Given the description of an element on the screen output the (x, y) to click on. 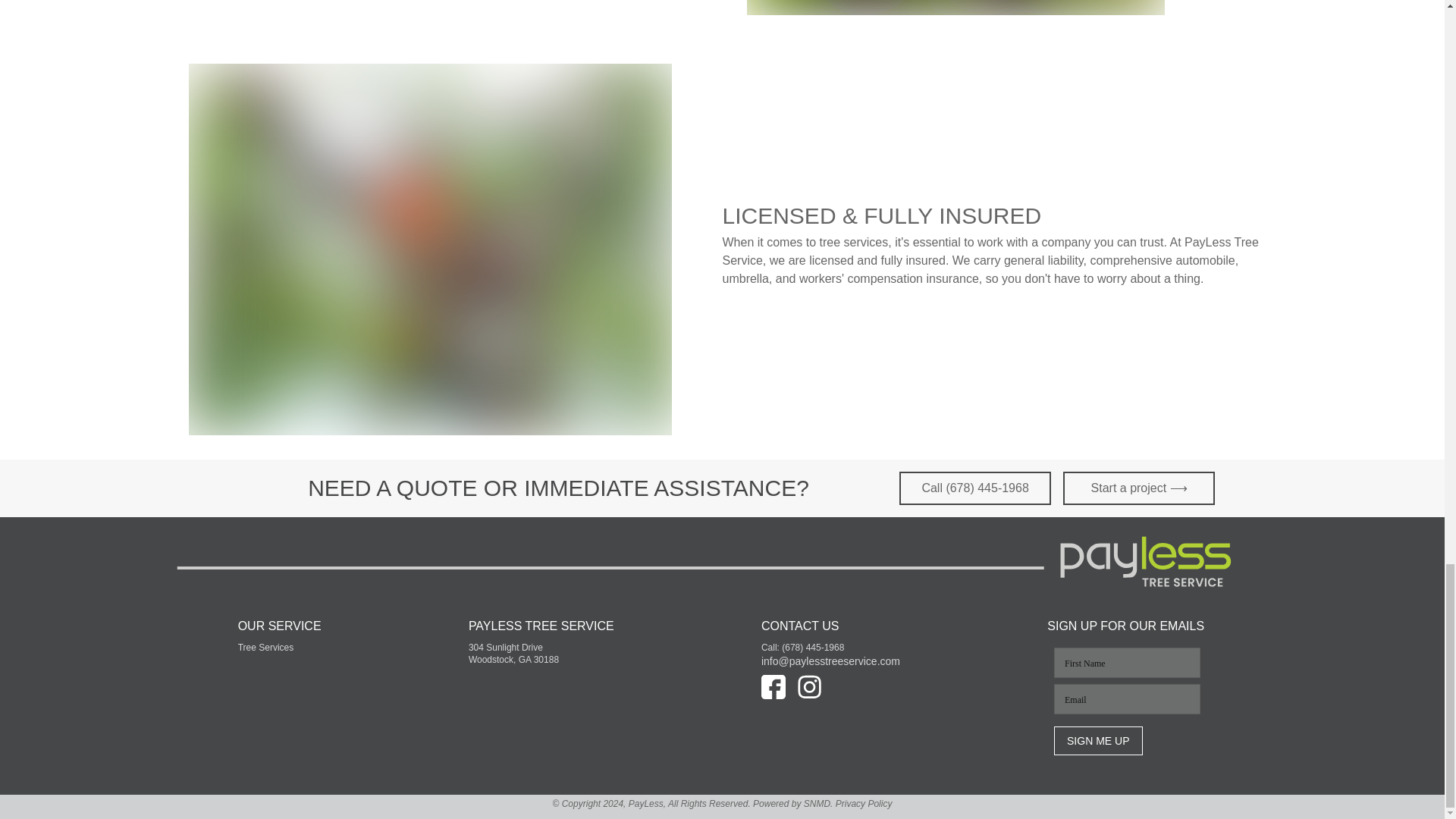
SIGN ME UP (1097, 740)
SNMD. (817, 803)
Tree Services (266, 647)
Privacy Policy (861, 803)
